Given the description of an element on the screen output the (x, y) to click on. 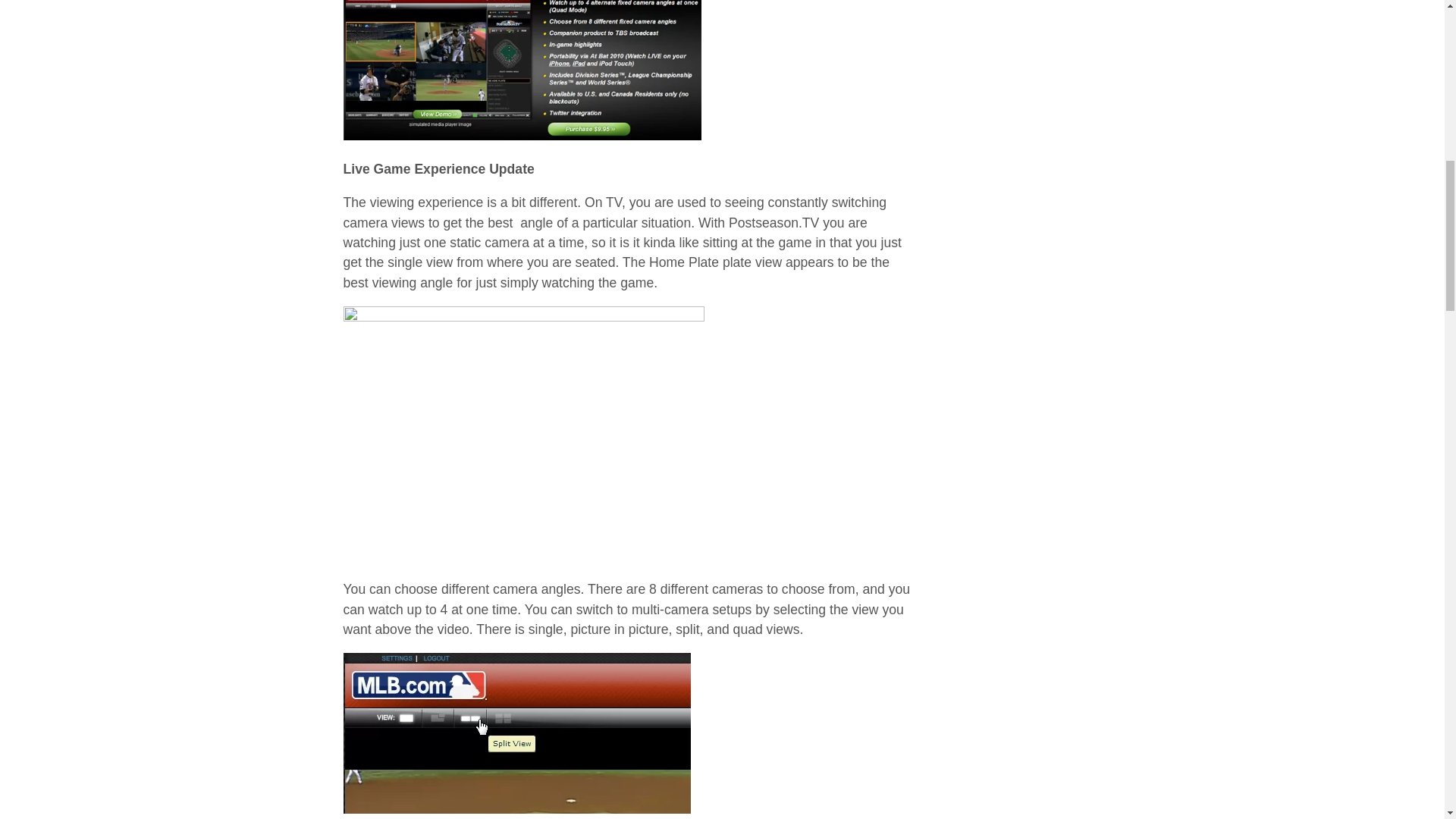
postseason-tv-1 (521, 70)
postseason-tv-4 (516, 733)
postseason-tv-3 (522, 436)
